Given the description of an element on the screen output the (x, y) to click on. 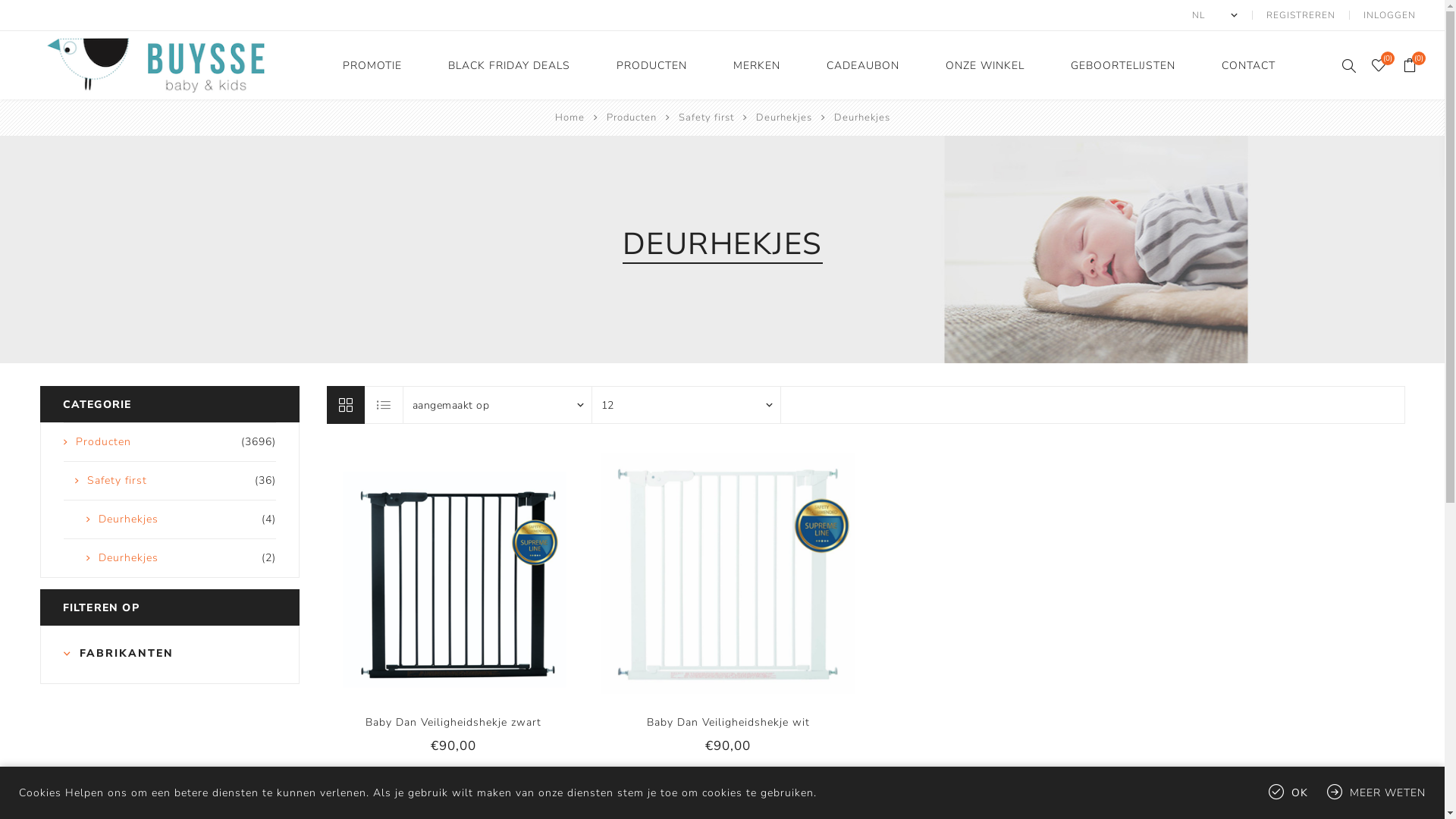
(2)
Deurhekjes Element type: text (169, 558)
Toevoegen aan verlanglijst Element type: text (712, 573)
BLACK FRIDAY DEALS Element type: text (509, 64)
MERKEN Element type: text (756, 64)
INLOGGEN Element type: text (1389, 15)
Bestel nu! Element type: text (468, 573)
MEER WETEN Element type: text (1376, 792)
Bestel nu! Element type: text (743, 573)
Zoek Element type: hover (1348, 65)
Toon details van Baby Dan Veiligheidshekje zwart Element type: hover (452, 572)
PRODUCTEN Element type: text (651, 64)
CONTACT Element type: text (1248, 64)
(4)
Deurhekjes Element type: text (169, 519)
Tabel Element type: text (345, 404)
Home Element type: text (568, 117)
Toon details van Baby Dan Veiligheidshekje wit Element type: hover (727, 572)
GEBOORTELIJSTEN Element type: text (1122, 64)
(3696)
Producten Element type: text (169, 442)
OK Element type: text (1288, 792)
Baby Dan Veiligheidshekje wit Element type: text (727, 722)
(0) Element type: text (1410, 65)
Deurhekjes Element type: text (783, 117)
Safety first Element type: text (705, 117)
REGISTREREN Element type: text (1300, 15)
Baby Dan Veiligheidshekje zwart Element type: text (452, 722)
PROMOTIE Element type: text (371, 64)
(36)
Safety first Element type: text (169, 480)
Lijst Element type: text (384, 404)
(0) Element type: text (1379, 65)
Producten Element type: text (630, 117)
ONZE WINKEL Element type: text (984, 64)
CADEAUBON Element type: text (862, 64)
Toevoegen aan verlanglijst Element type: text (437, 573)
FABRIKANTEN Element type: text (169, 653)
